Given the description of an element on the screen output the (x, y) to click on. 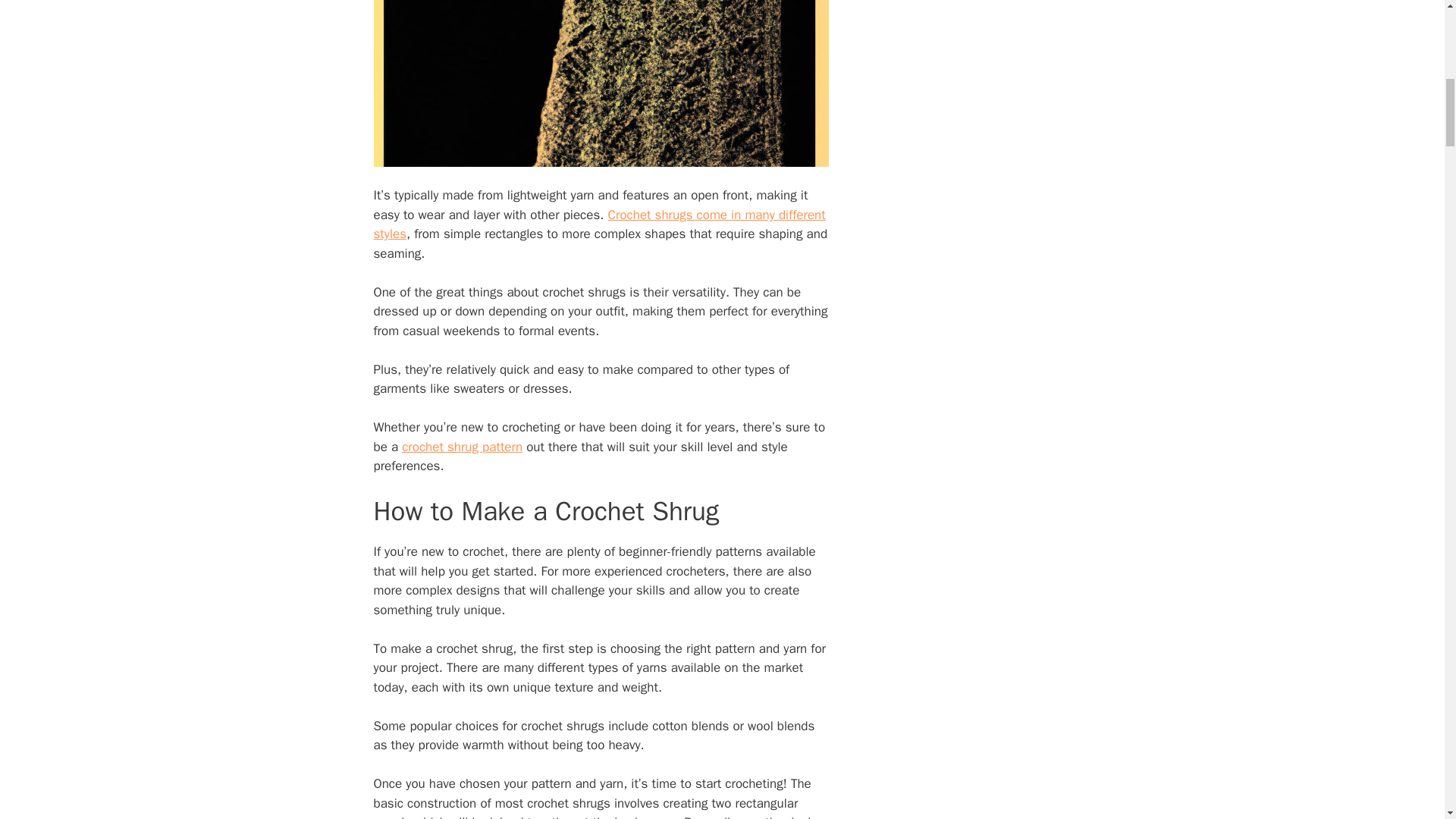
Crochet shrugs come in many different styles (598, 224)
crochet shrug pattern (461, 446)
